Given the description of an element on the screen output the (x, y) to click on. 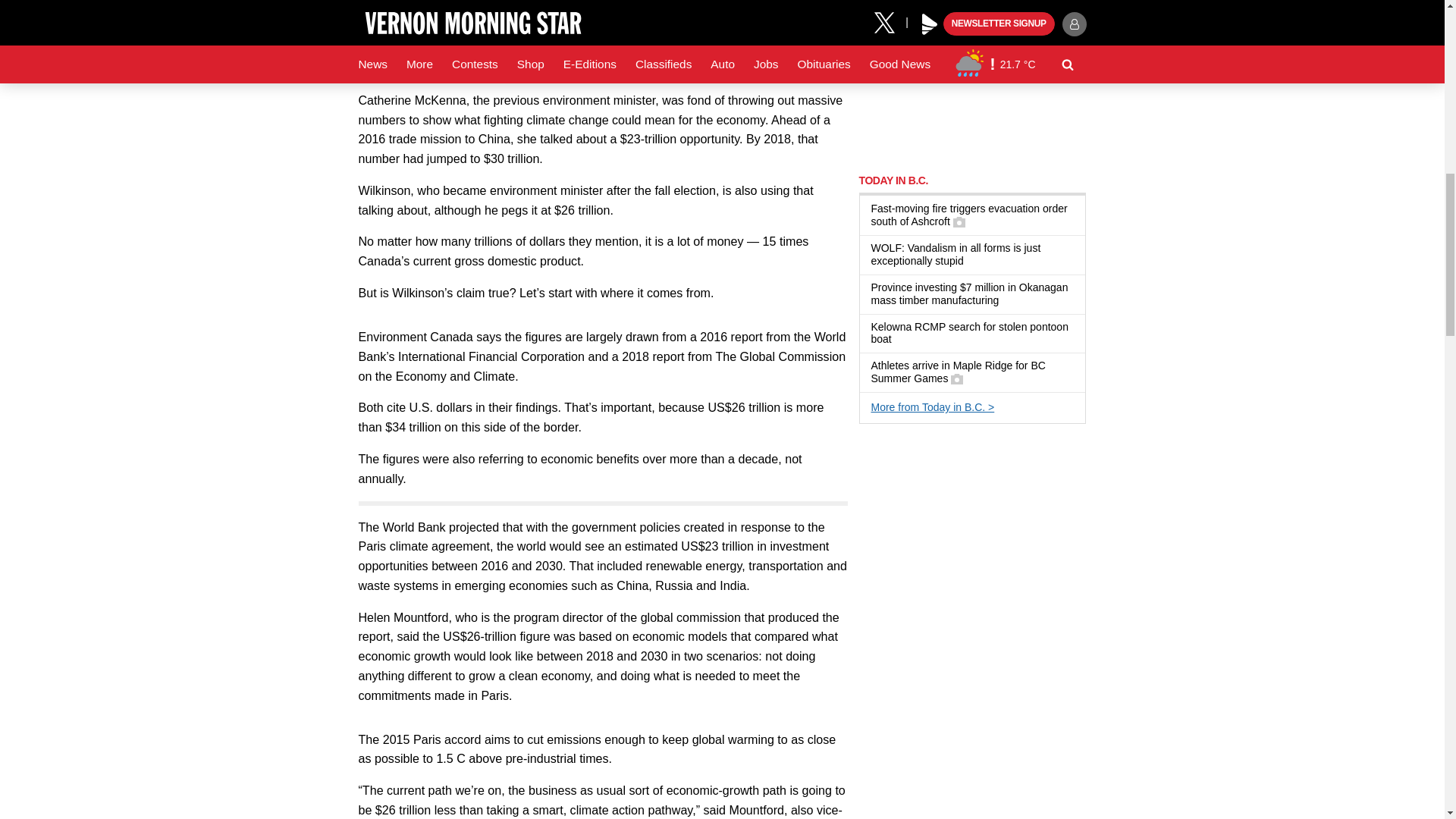
3rd party ad content (972, 79)
Has a gallery (959, 222)
Has a gallery (956, 378)
